Given the description of an element on the screen output the (x, y) to click on. 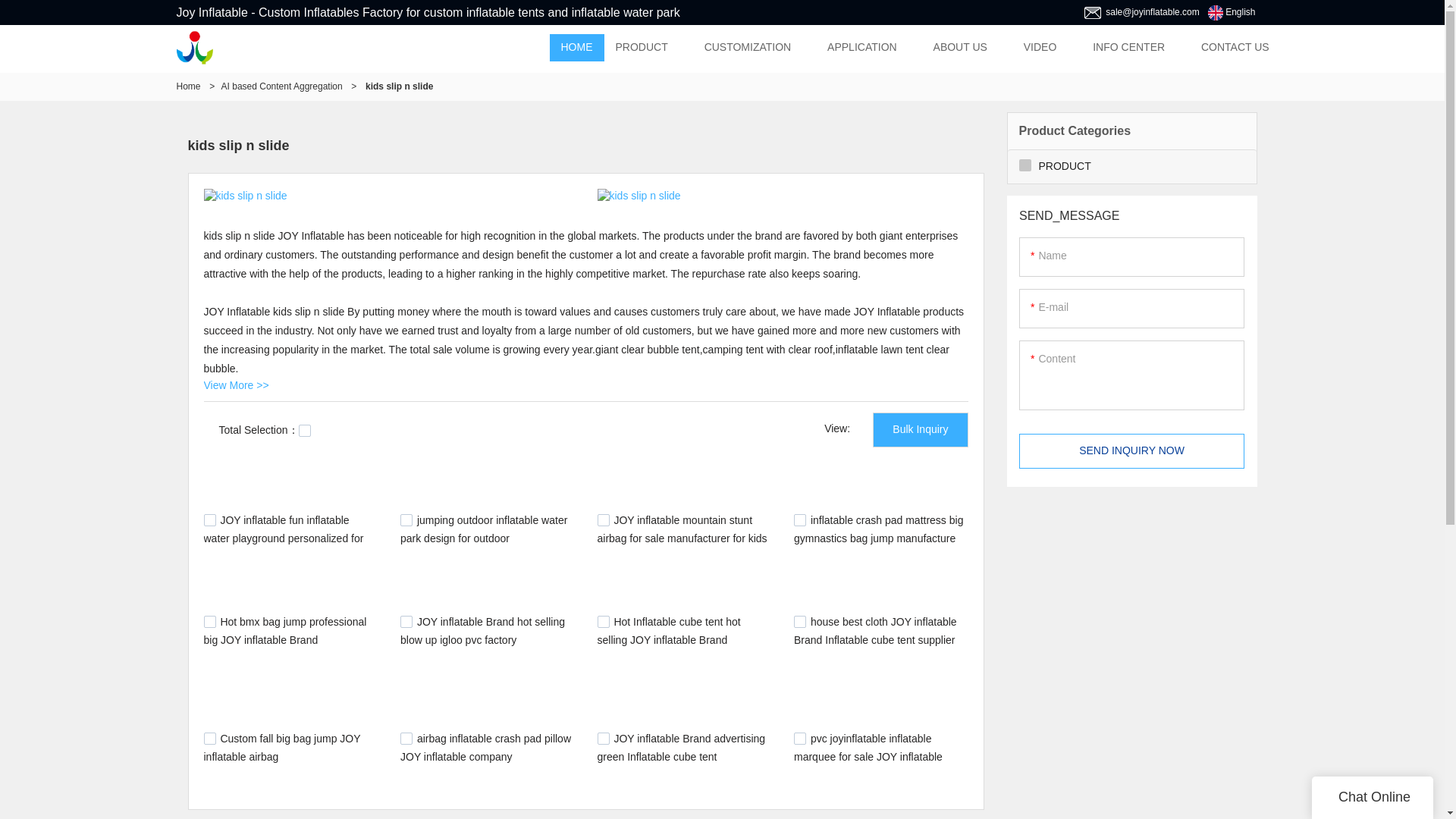
on (304, 430)
airbag inflatable crash pad pillow JOY inflatable company (485, 747)
5660 (209, 520)
5657 (603, 520)
PRODUCT (641, 47)
1266 (799, 520)
1107 (603, 738)
HOME (576, 47)
1073 (799, 738)
1131 (799, 621)
1110 (406, 738)
1253 (209, 621)
